Given the description of an element on the screen output the (x, y) to click on. 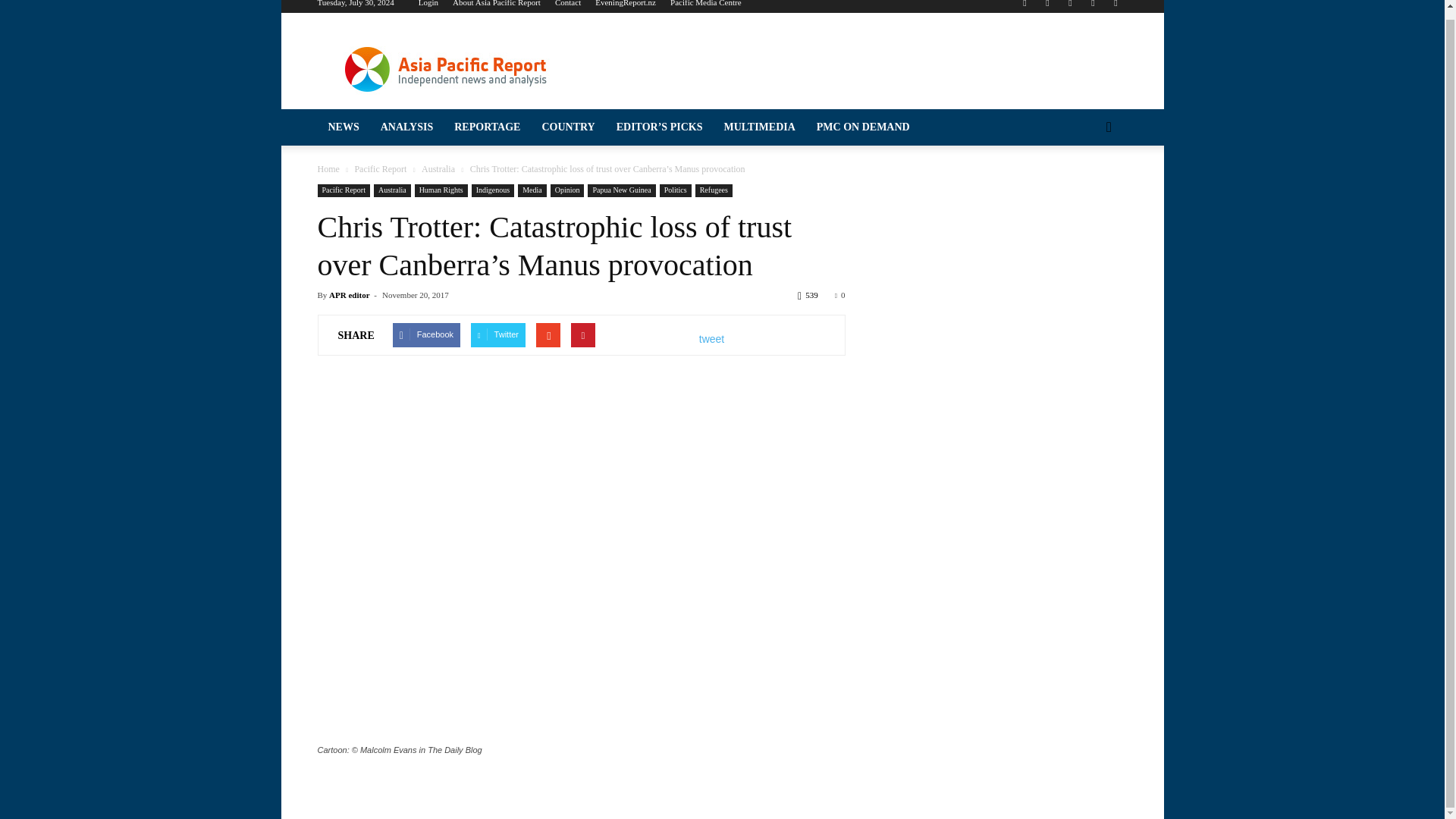
APJS newsfile (140, 206)
Tahiti (140, 759)
Federated States of Micronesia (140, 385)
Facebook (1024, 5)
Twitter (1092, 5)
ANALYSIS (140, 83)
RSS (1069, 5)
Climate (140, 235)
New Zealand (140, 557)
Youtube (1114, 5)
Australia (140, 327)
Marshall Islands (140, 471)
Asia Report (140, 177)
Samoa (140, 701)
Papua New Guinea (140, 644)
